Given the description of an element on the screen output the (x, y) to click on. 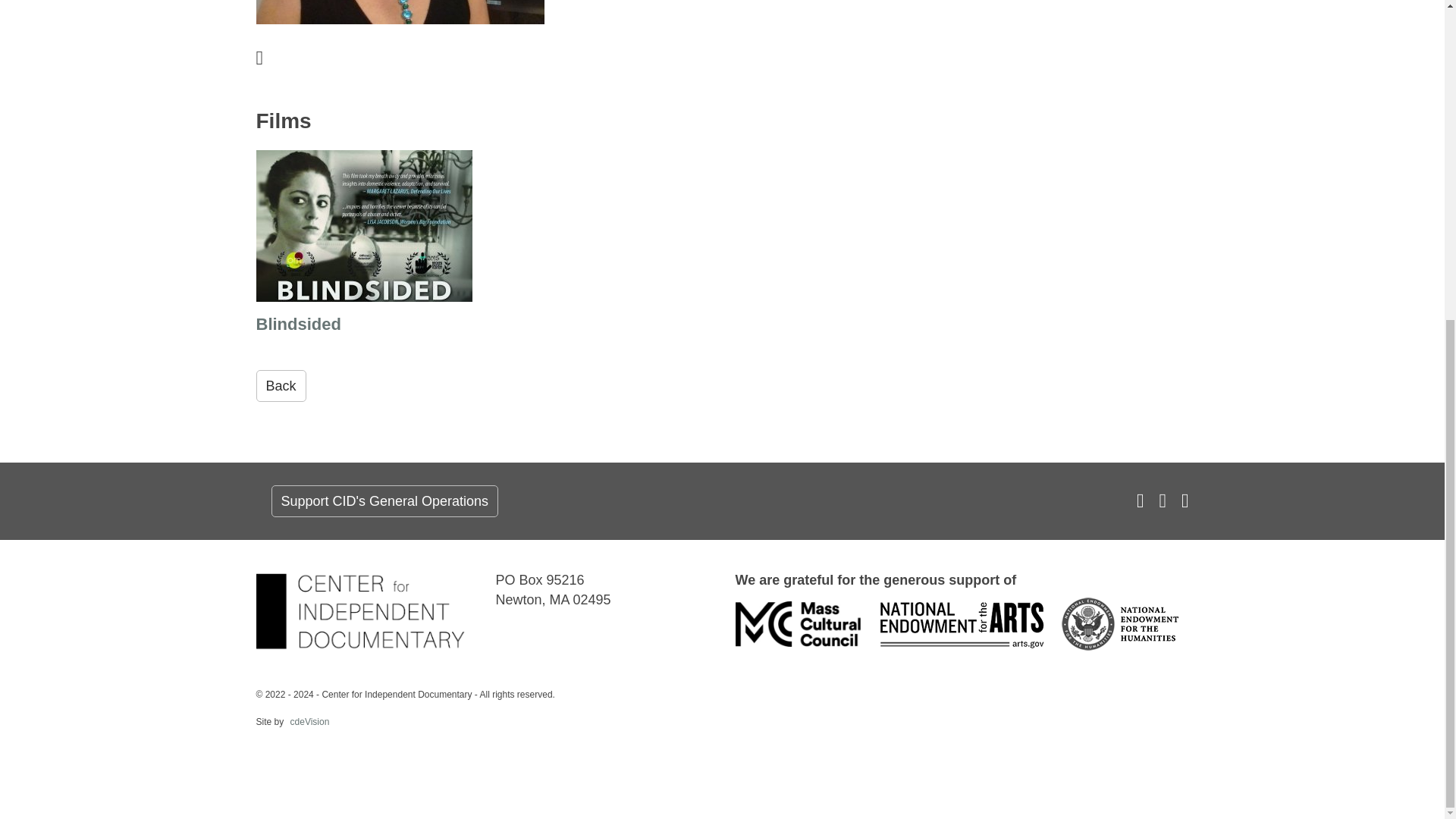
Support CID's General Operations (384, 500)
Back (280, 386)
Blindsided (363, 244)
cdeVision (308, 721)
